Given the description of an element on the screen output the (x, y) to click on. 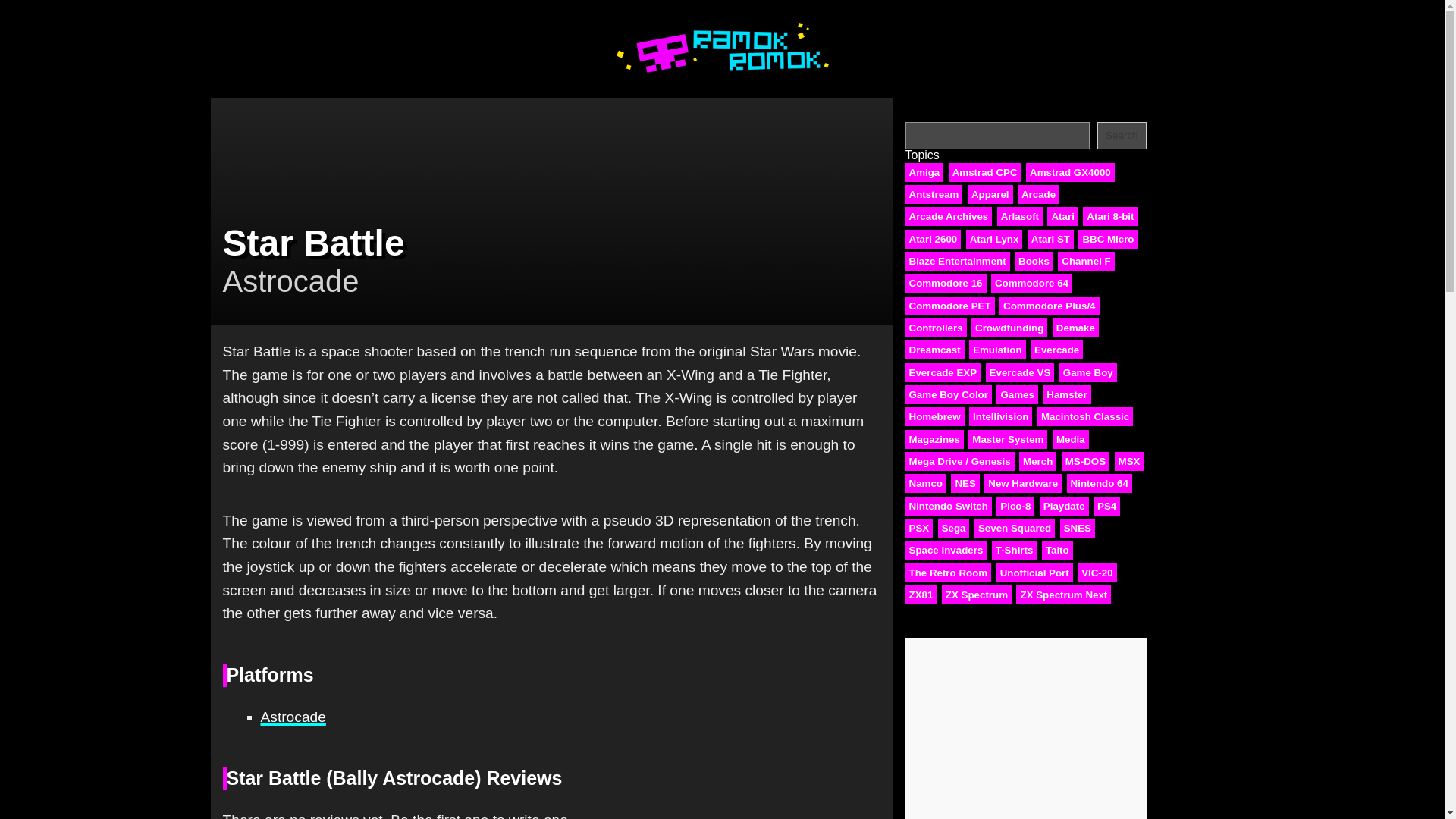
Dreamcast (934, 349)
RAM OK ROM OK (721, 75)
Evercade EXP (943, 372)
Astrocade (293, 716)
Antstream (933, 194)
Arcade (1038, 194)
Apparel (990, 194)
Amiga (924, 171)
Arcade Archives (948, 216)
BBC Micro (1107, 239)
Controllers (935, 327)
Atari 2600 (932, 239)
Evercade VS (1019, 372)
Arlasoft (1019, 216)
Search (1121, 135)
